Given the description of an element on the screen output the (x, y) to click on. 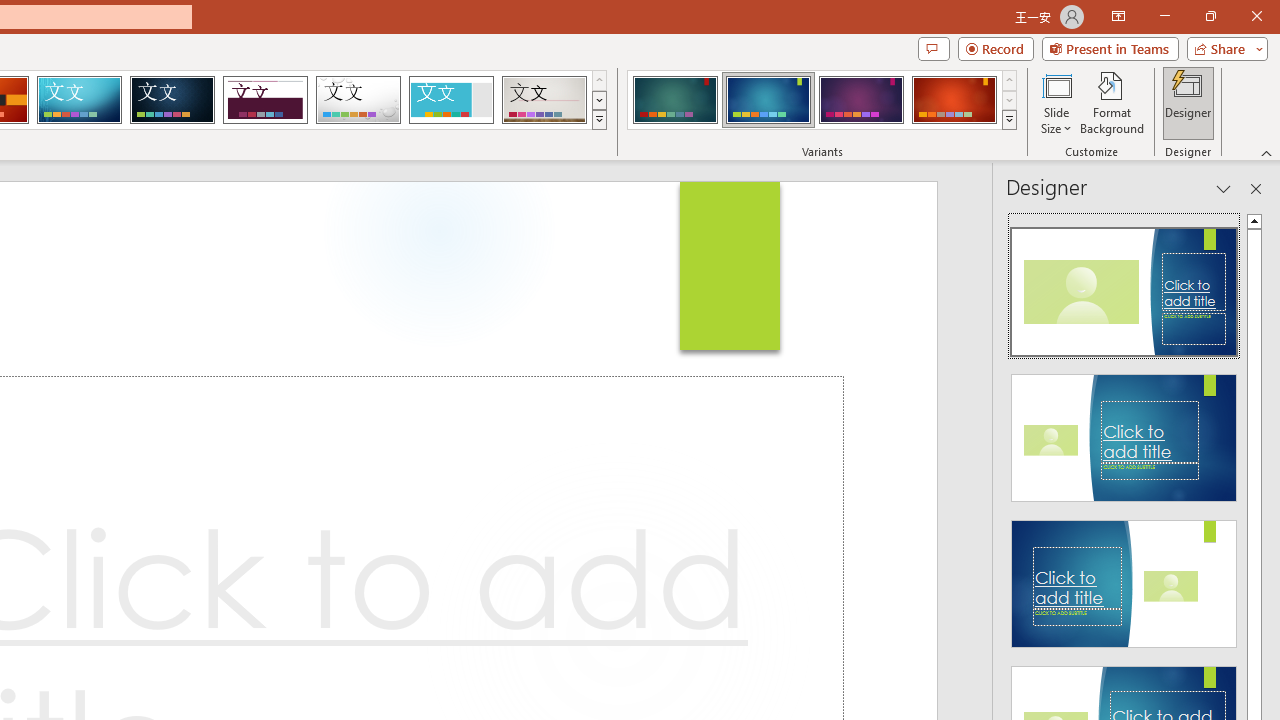
Ion Variant 2 (768, 100)
Droplet Loading Preview... (358, 100)
AutomationID: ThemeVariantsGallery (822, 99)
Ion Variant 1 (674, 100)
Damask Loading Preview... (171, 100)
Recommended Design: Design Idea (1124, 286)
Ion Variant 3 (861, 100)
Variants (1009, 120)
Frame Loading Preview... (450, 100)
